Given the description of an element on the screen output the (x, y) to click on. 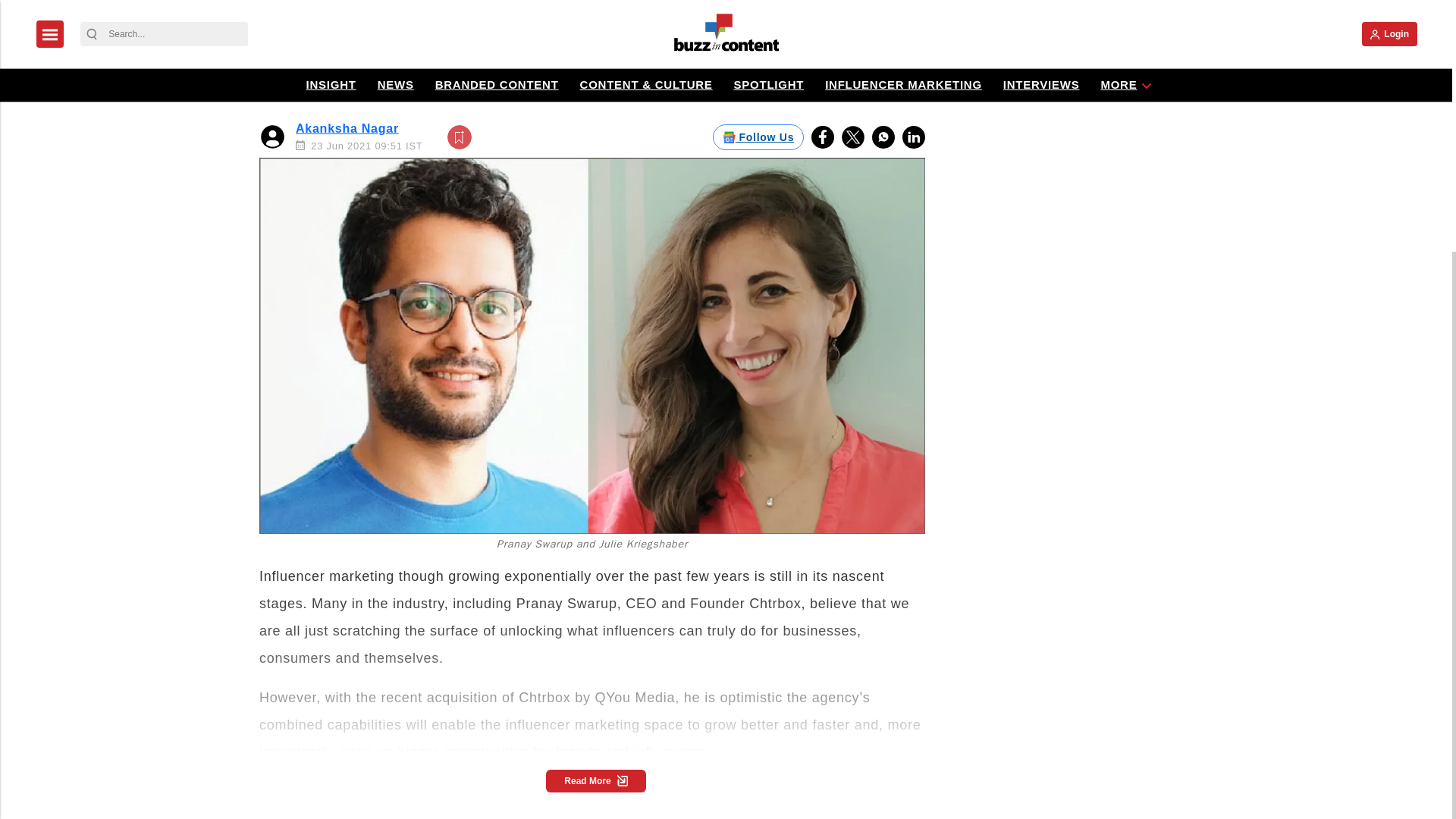
Akanksha Nagar (346, 128)
Follow Us (758, 136)
